Given the description of an element on the screen output the (x, y) to click on. 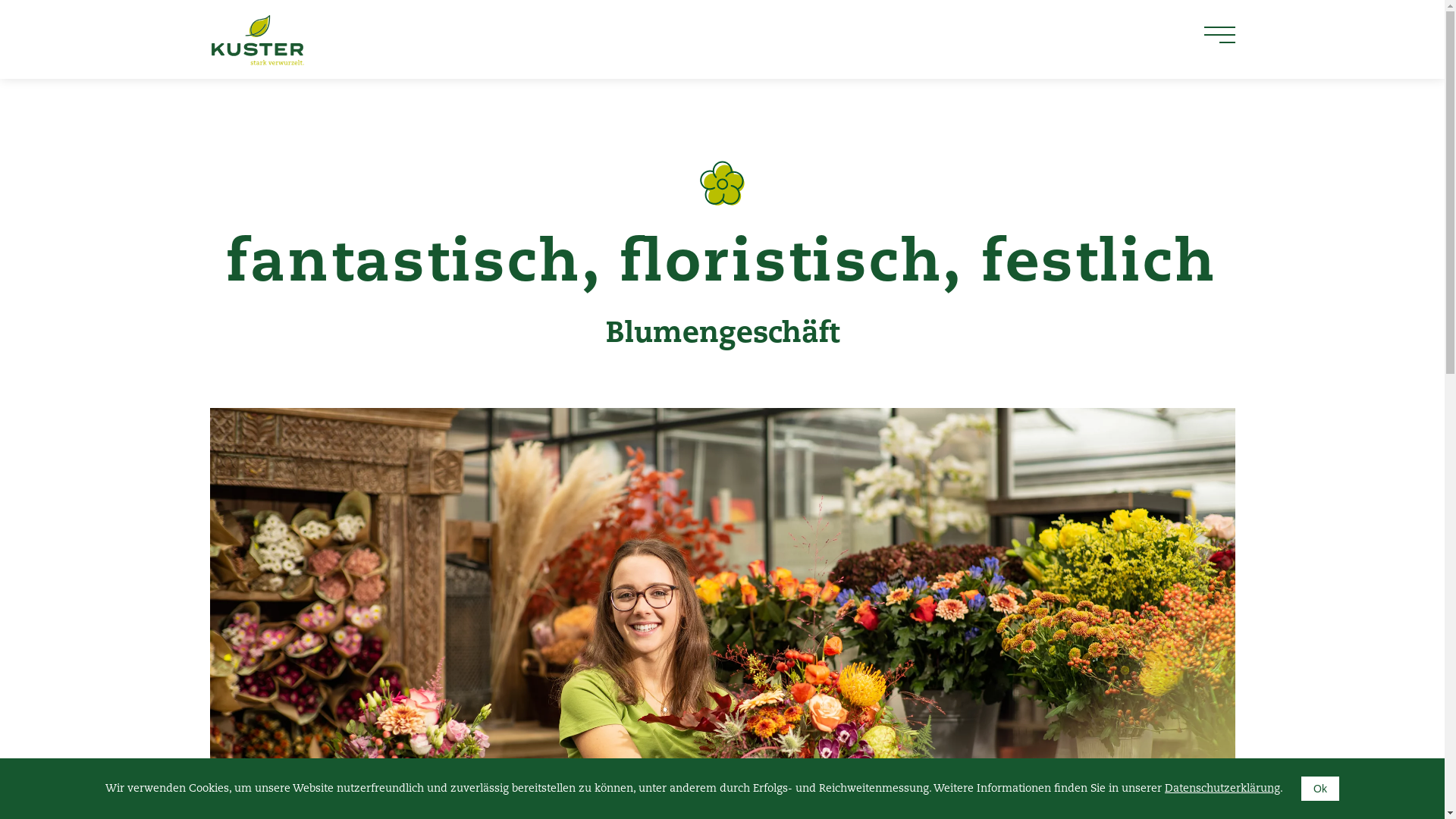
Ok Element type: text (1320, 788)
Home Element type: hover (256, 39)
